Given the description of an element on the screen output the (x, y) to click on. 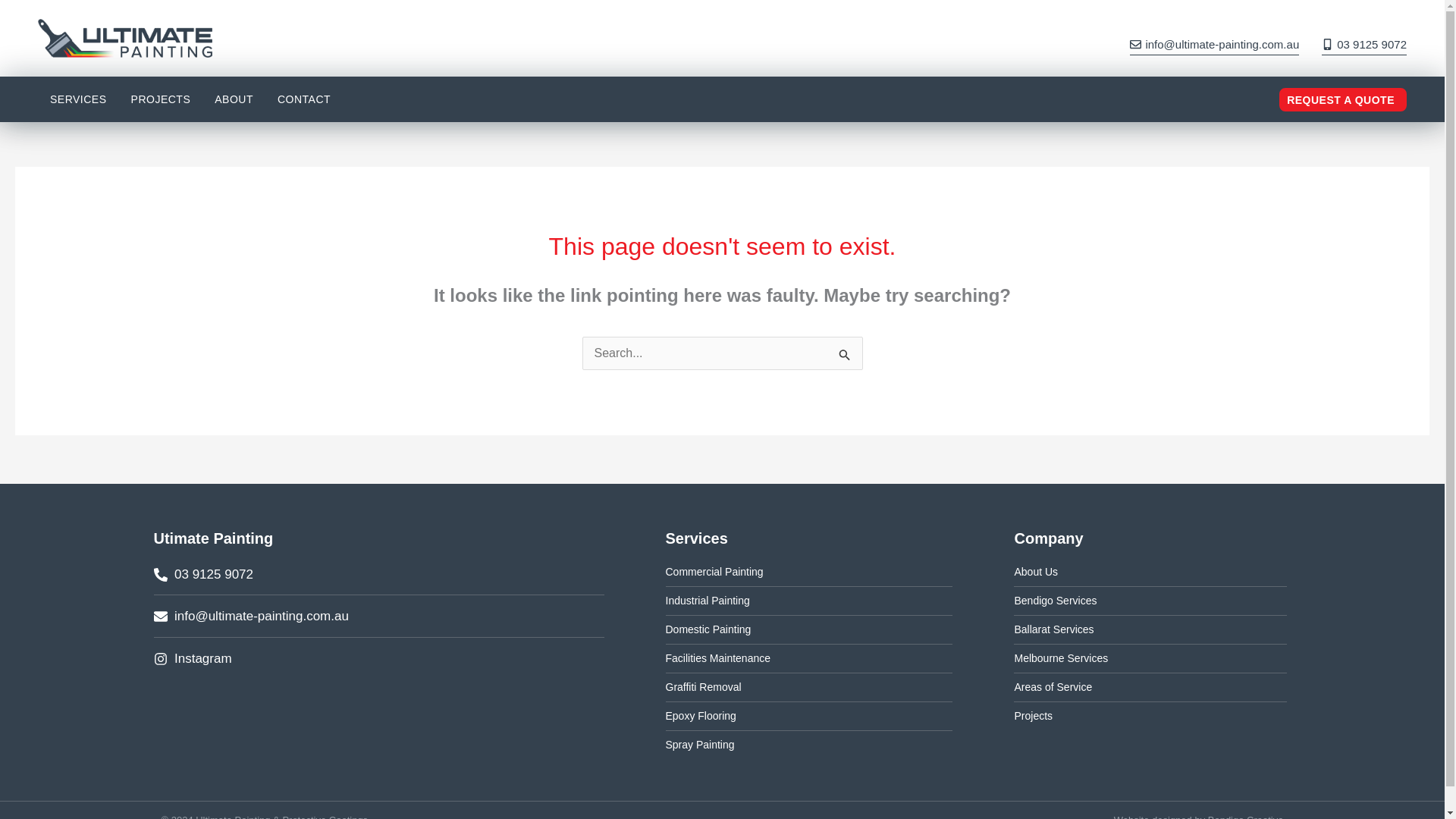
SERVICES (78, 99)
SERVICES (73, 94)
REQUEST A QUOTE (1342, 99)
CONTACT (303, 99)
Search (844, 356)
ABOUT (233, 99)
Search (844, 356)
PROJECTS (161, 99)
